Given the description of an element on the screen output the (x, y) to click on. 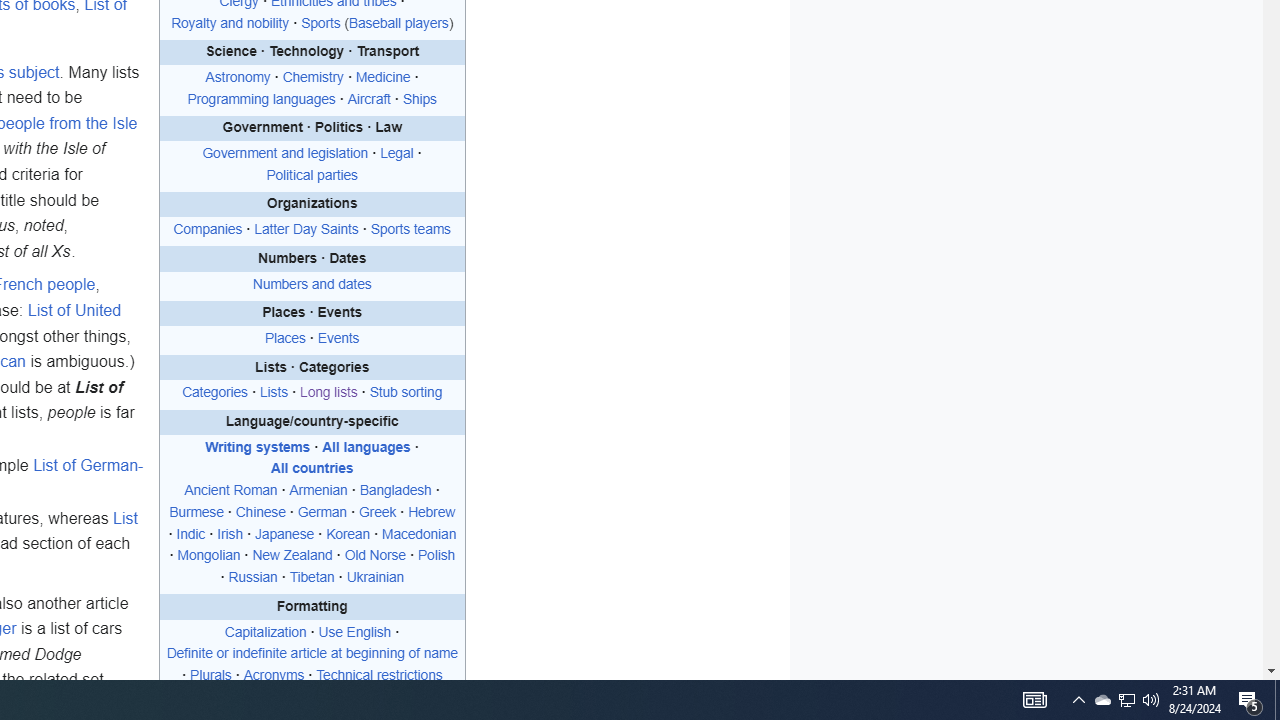
Korean (347, 534)
Macedonian (418, 534)
Ancient Roman (230, 490)
German (321, 511)
Stub sorting (405, 393)
Government and legislation (285, 154)
Definite or indefinite article at beginning of name (312, 653)
Use English (354, 632)
Hebrew (431, 511)
All countries (312, 468)
Companies (207, 229)
Old Norse (374, 555)
Latter Day Saints (305, 229)
Capitalization (265, 632)
Sports teams (409, 229)
